Given the description of an element on the screen output the (x, y) to click on. 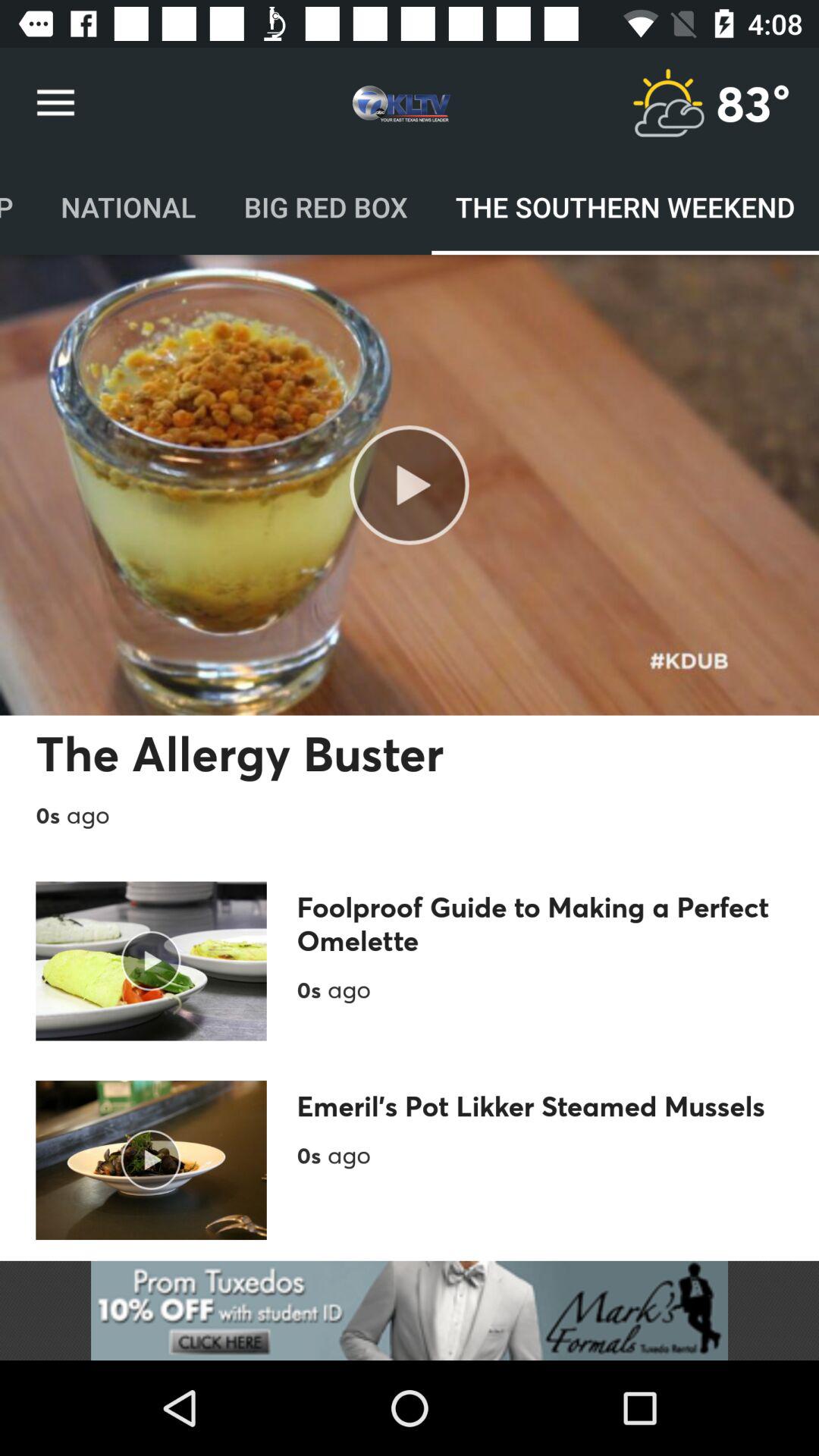
advertisement link (409, 1310)
